Given the description of an element on the screen output the (x, y) to click on. 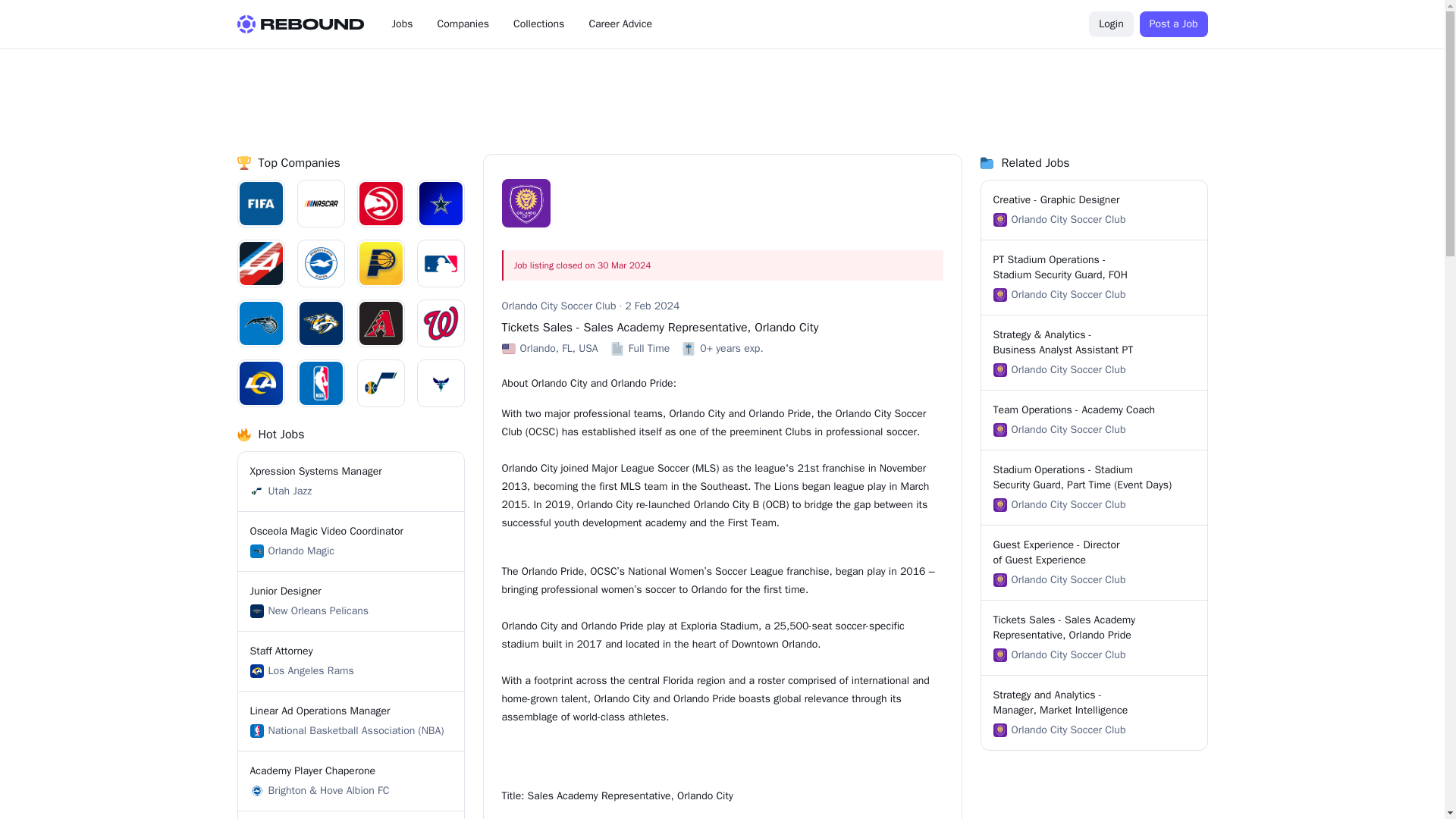
Post a Job (1174, 23)
Orlando City Soccer Club (558, 305)
Jobs (351, 481)
Career Advice (402, 23)
ReboundJobs.com (1094, 209)
Collections (351, 600)
Companies (620, 23)
